Given the description of an element on the screen output the (x, y) to click on. 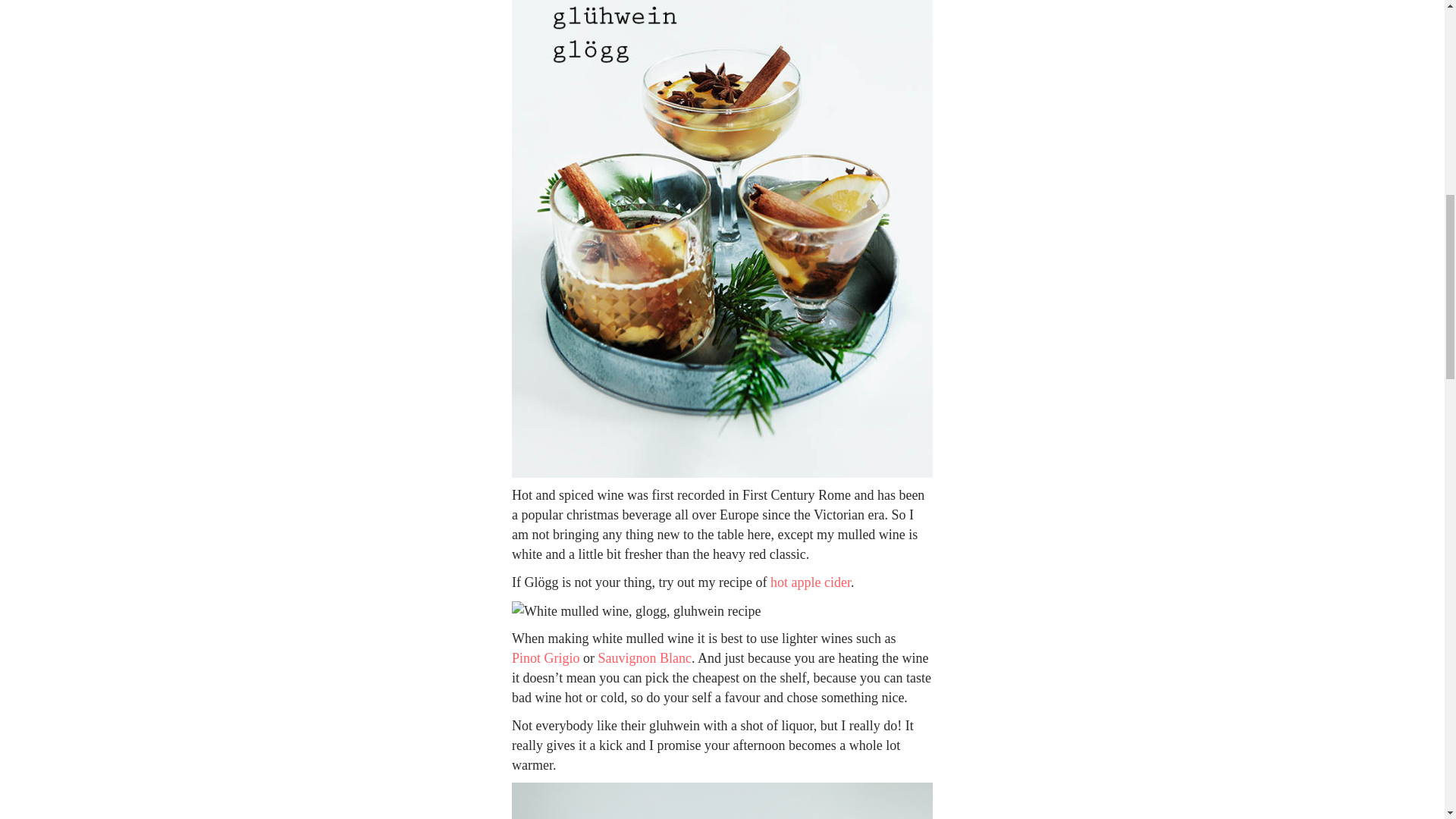
hot apple cider (810, 581)
Sauvignon Blanc (645, 657)
Pinot Grigio (545, 657)
